Given the description of an element on the screen output the (x, y) to click on. 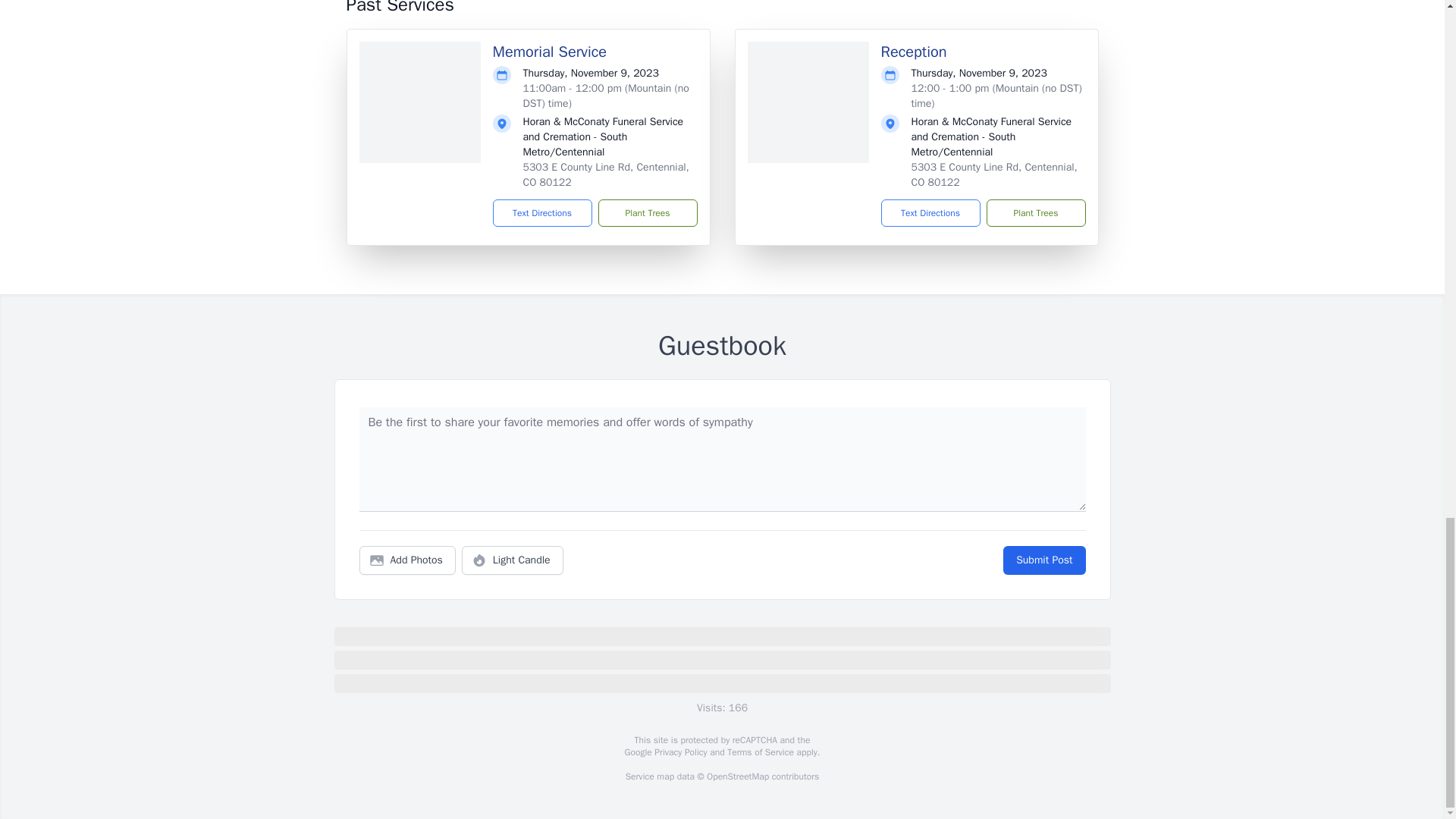
Text Directions (929, 212)
Privacy Policy (679, 752)
Plant Trees (646, 212)
Text Directions (542, 212)
5303 E County Line Rd, Centennial, CO 80122 (994, 174)
Plant Trees (1034, 212)
Terms of Service (759, 752)
Submit Post (1043, 560)
OpenStreetMap (737, 776)
5303 E County Line Rd, Centennial, CO 80122 (605, 174)
